Given the description of an element on the screen output the (x, y) to click on. 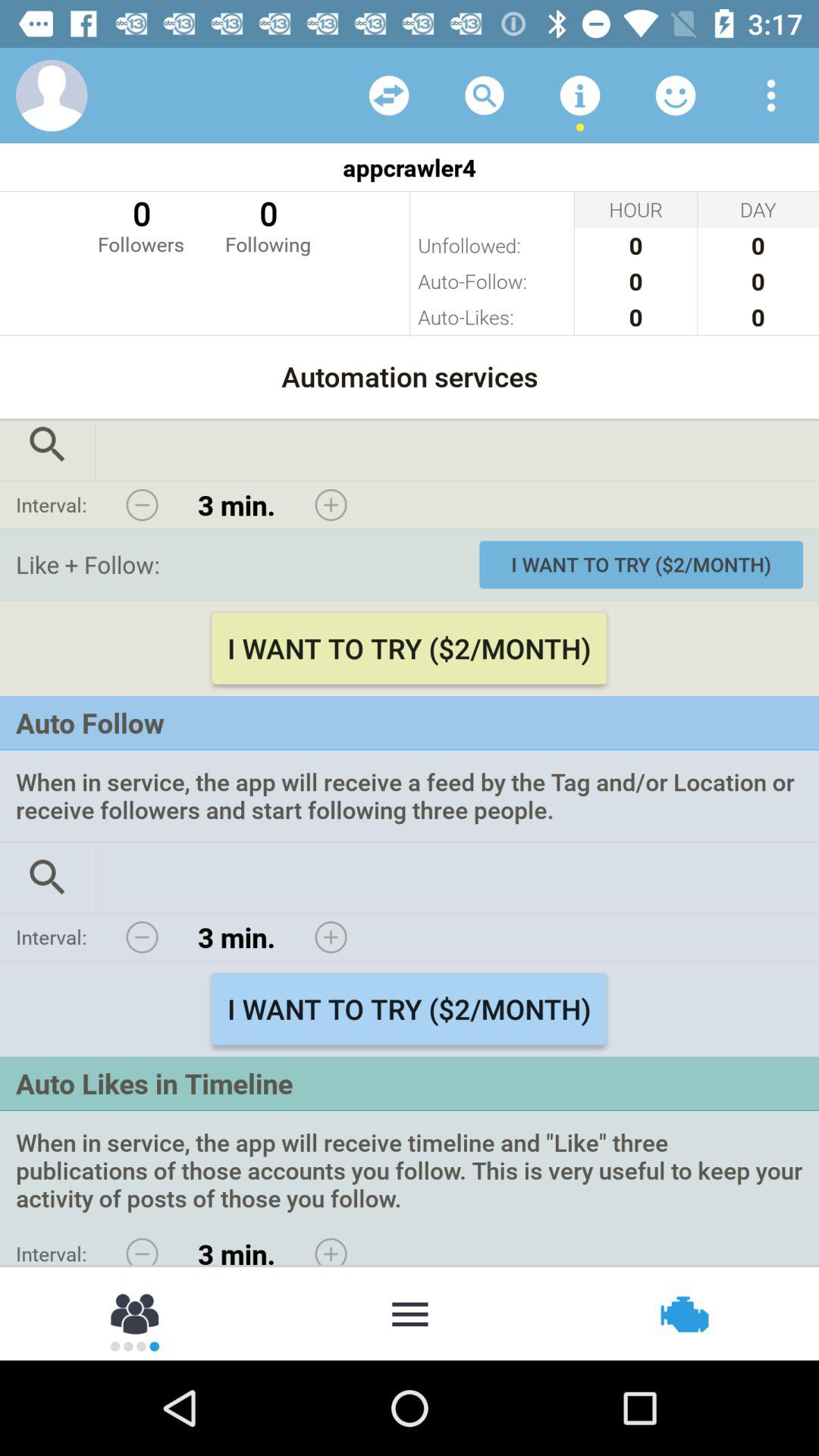
turn off item below interval: (136, 1312)
